Given the description of an element on the screen output the (x, y) to click on. 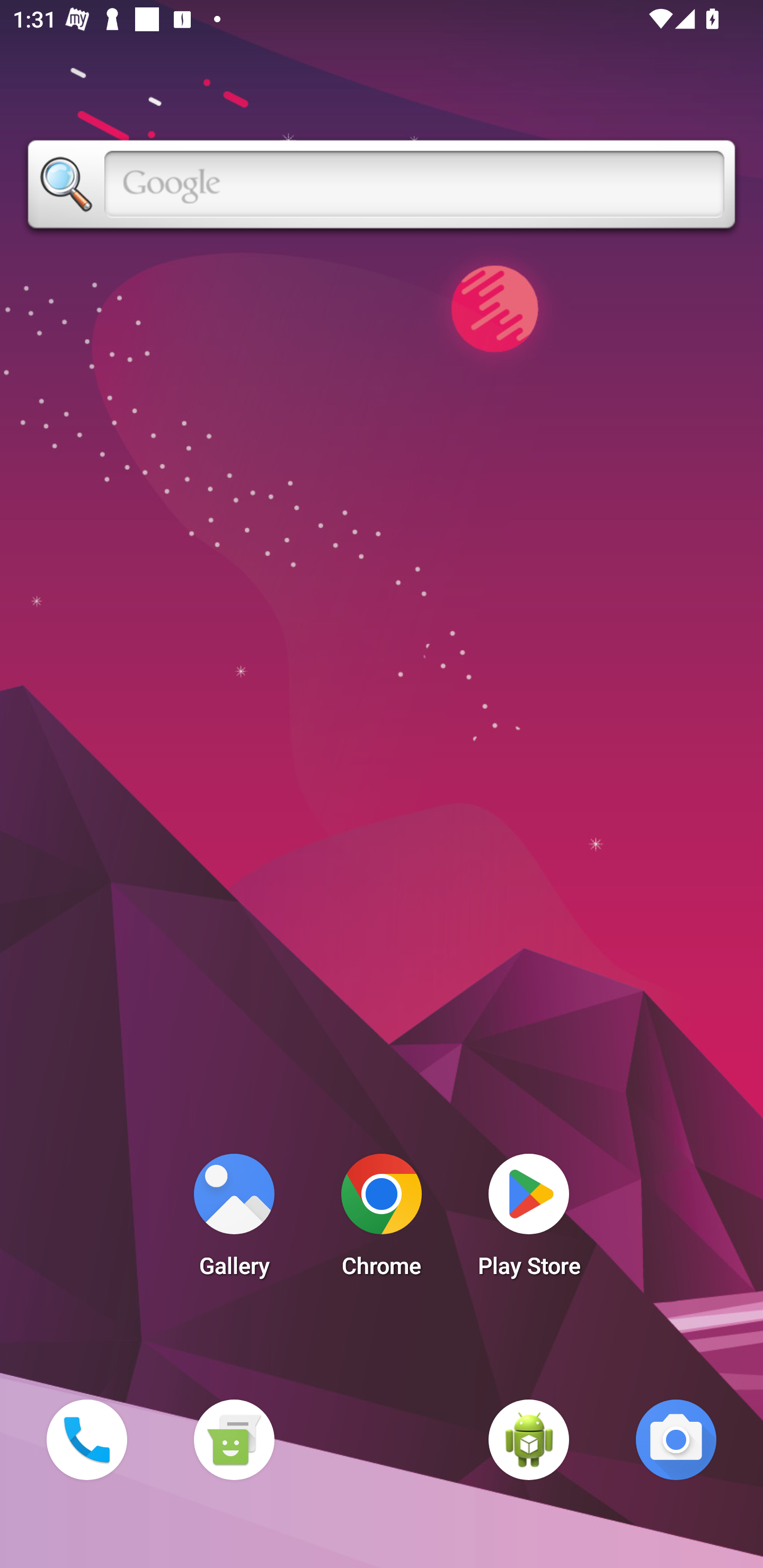
Gallery (233, 1220)
Chrome (381, 1220)
Play Store (528, 1220)
Phone (86, 1439)
Messaging (233, 1439)
WebView Browser Tester (528, 1439)
Camera (676, 1439)
